Given the description of an element on the screen output the (x, y) to click on. 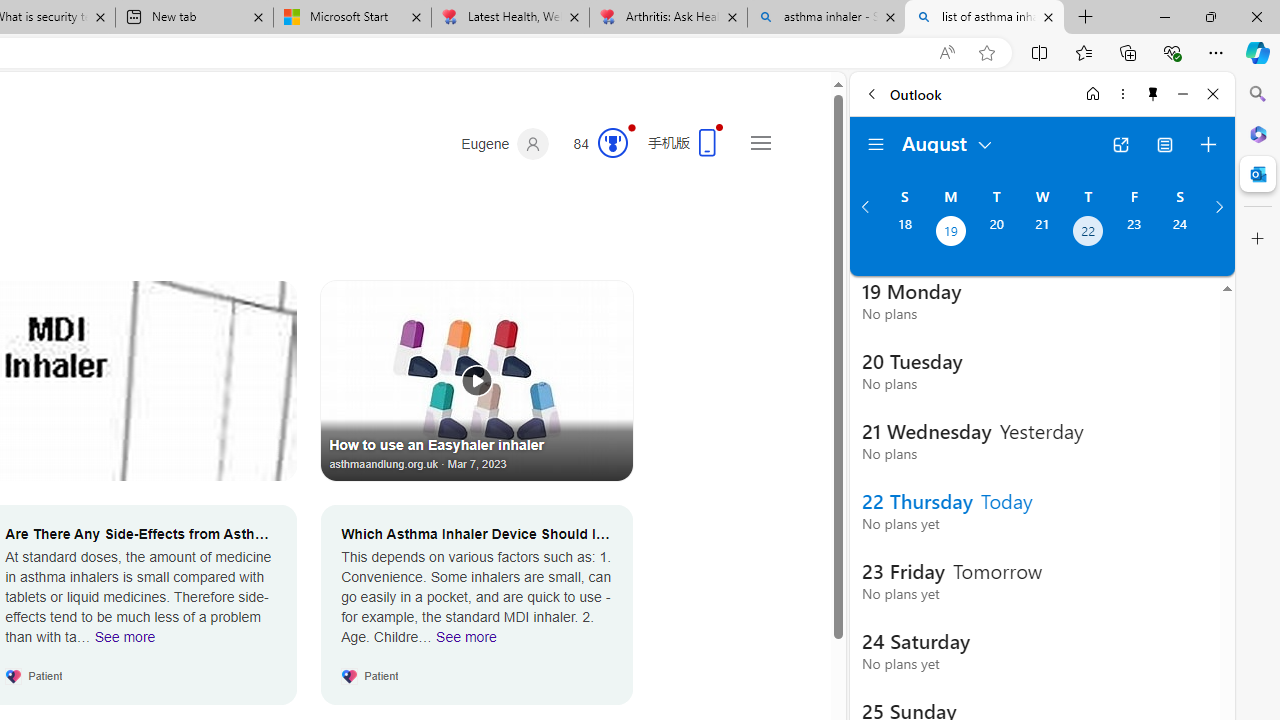
Settings and quick links (760, 142)
Tuesday, August 20, 2024.  (996, 233)
Eugene (505, 143)
Monday, August 19, 2024. Date selected.  (950, 233)
AutomationID: serp_medal_svg (612, 142)
Unpin side pane (1153, 93)
Microsoft Rewards 84 (594, 143)
